Given the description of an element on the screen output the (x, y) to click on. 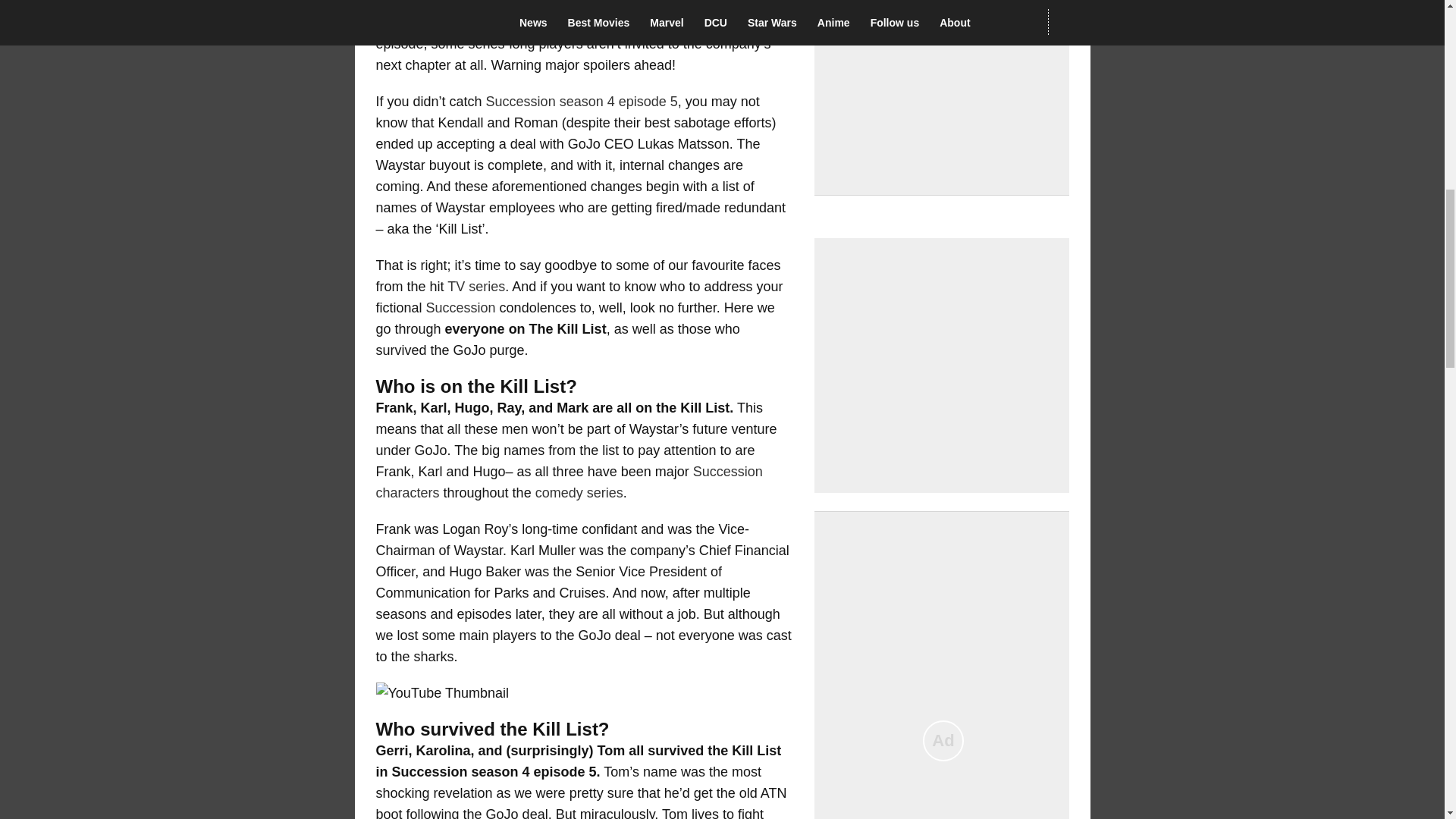
Succession season 4 episode 5 (582, 101)
Succession (461, 307)
TV series (475, 286)
comedy series (579, 492)
Succession characters (568, 482)
